Given the description of an element on the screen output the (x, y) to click on. 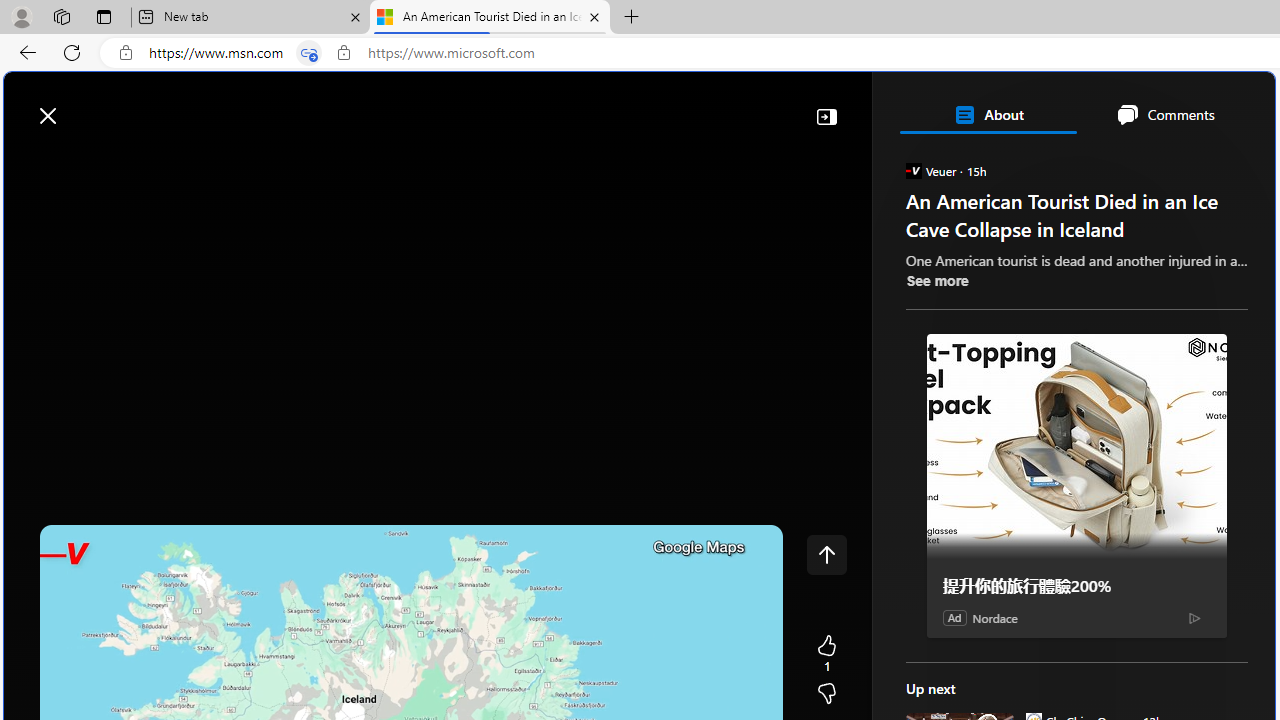
Veuer (912, 170)
Tabs in split screen (308, 53)
Open settings (1230, 105)
1 Like (826, 653)
An American Tourist Died in an Ice Cave Collapse in Iceland (490, 17)
Collapse (826, 115)
